Given the description of an element on the screen output the (x, y) to click on. 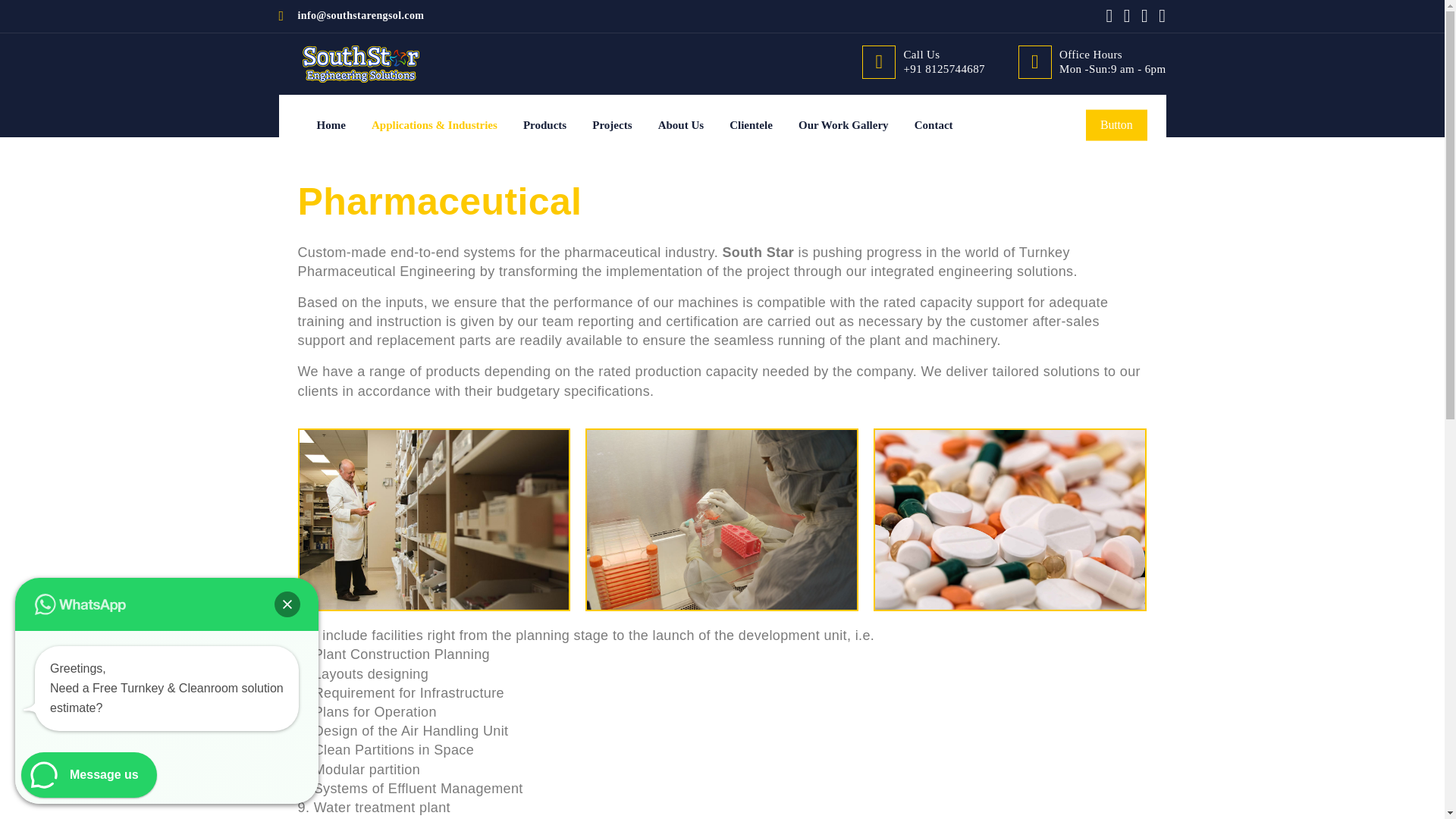
About Us (680, 124)
Projects (611, 124)
Home (331, 124)
Button (1116, 124)
Products (544, 124)
Clientele (751, 124)
Products (544, 124)
Contact (933, 124)
Our Work Gallery (842, 124)
Home (331, 124)
